Given the description of an element on the screen output the (x, y) to click on. 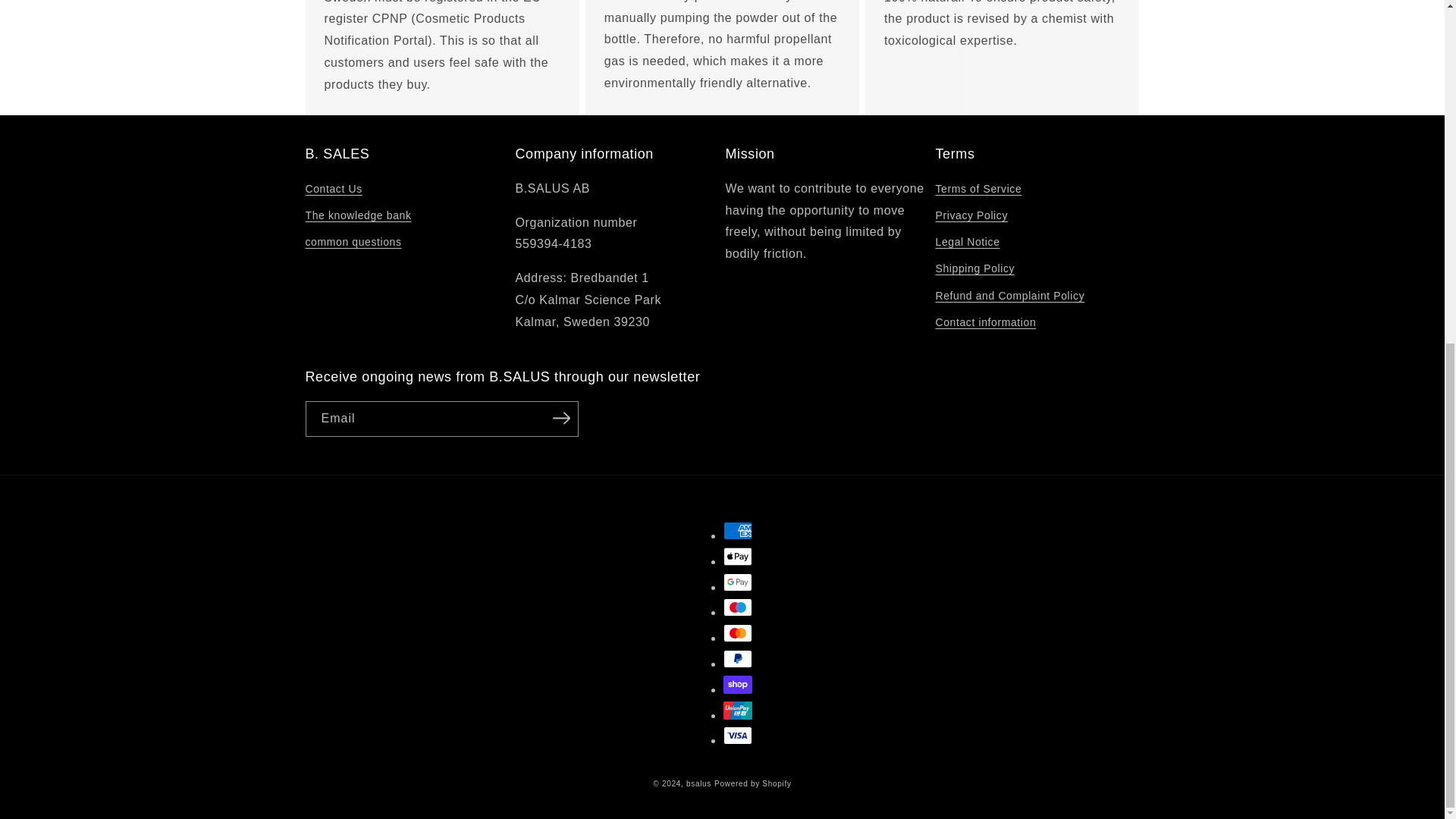
Maestro (737, 607)
Mastercard (737, 633)
Union Pay (737, 710)
Google Pay (737, 582)
common questions (352, 242)
Terms of Service (979, 190)
Contact Us (332, 190)
PayPal (737, 659)
Apple Pay (737, 556)
Privacy Policy (972, 215)
